Given the description of an element on the screen output the (x, y) to click on. 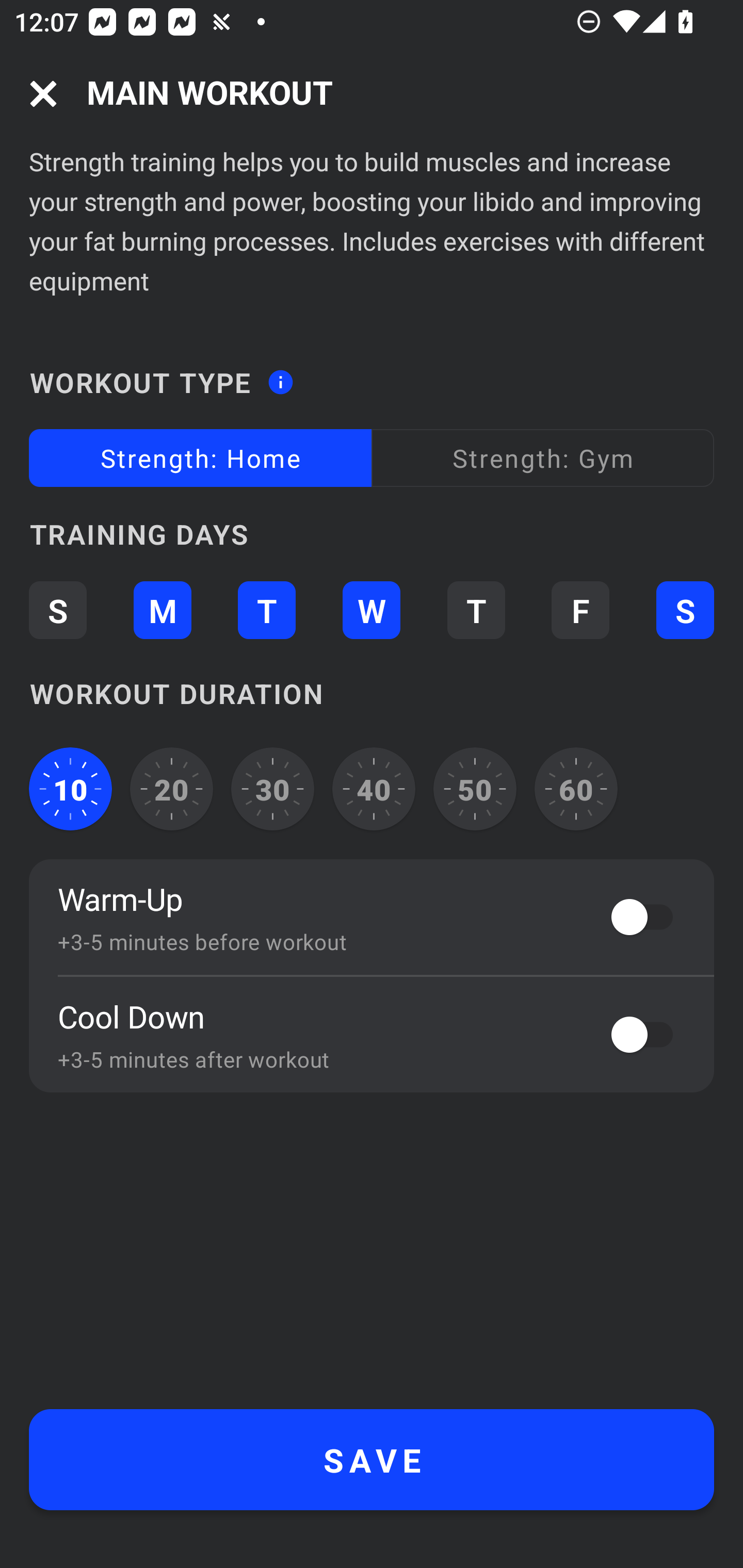
Navigation icon (43, 93)
Workout type information button (280, 375)
Strength: Home (199, 457)
Strength: Gym (542, 457)
S (57, 610)
T (476, 610)
F (580, 610)
10 (70, 789)
20 (171, 789)
30 (272, 789)
40 (373, 789)
50 (474, 789)
60 (575, 789)
SAVE (371, 1459)
